Given the description of an element on the screen output the (x, y) to click on. 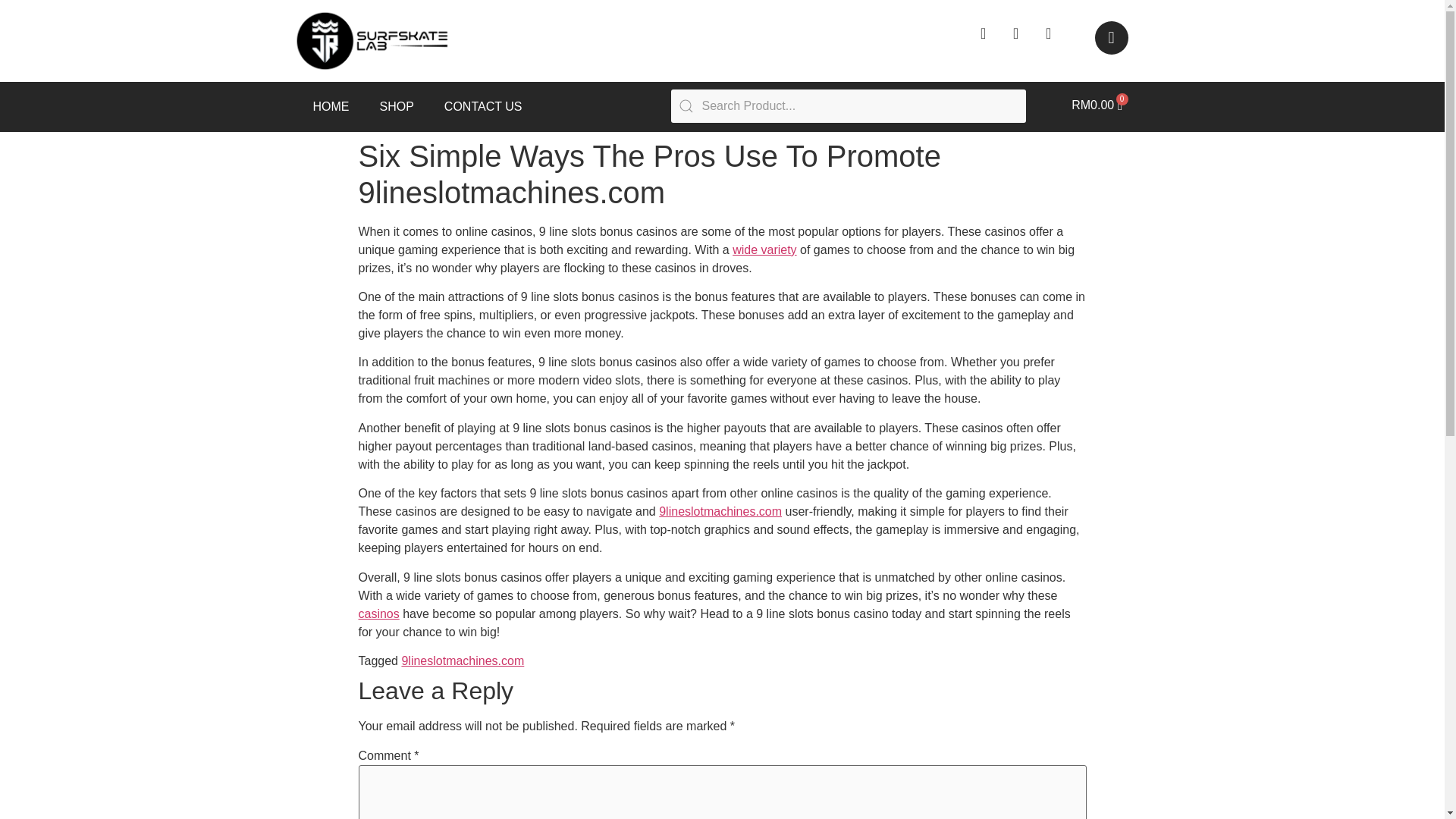
CONTACT US (483, 106)
Search (848, 105)
SHOP (396, 106)
HOME (330, 106)
RM0.00 (1096, 105)
